Given the description of an element on the screen output the (x, y) to click on. 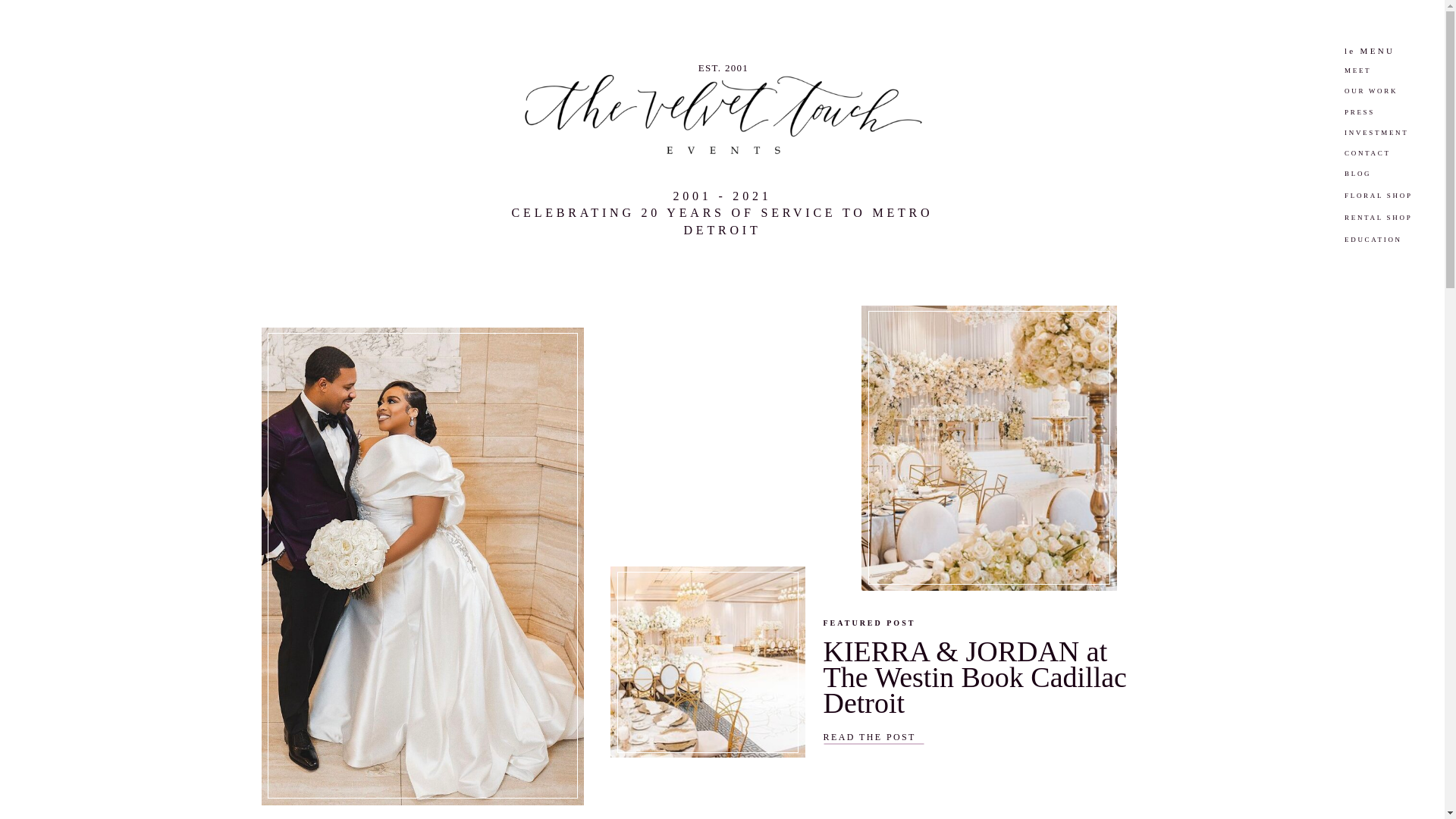
le MENU  (1381, 55)
CONTACT (1379, 159)
READ THE POST (892, 739)
INVESTMENT (1392, 138)
BLOG (1368, 179)
MEET (1367, 76)
PRESS (1375, 118)
EDUCATION (721, 209)
EST. 2001 (1388, 245)
